Given the description of an element on the screen output the (x, y) to click on. 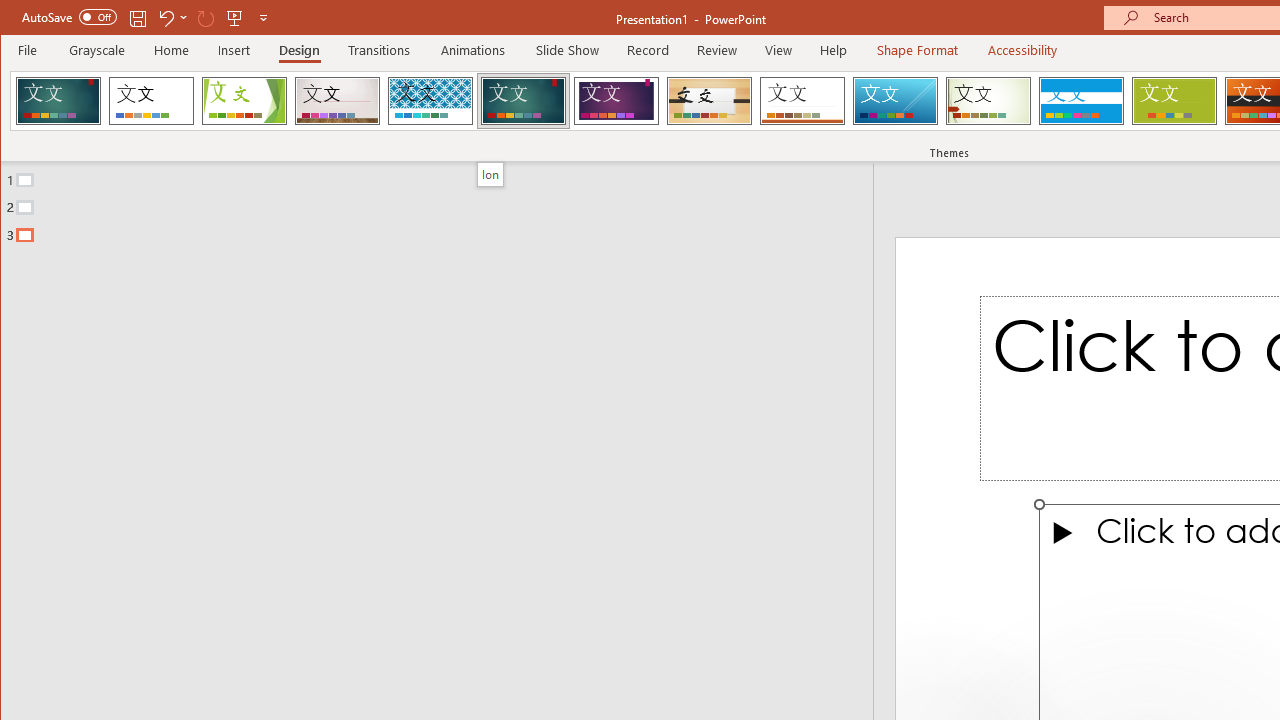
Office Theme (151, 100)
Integral (430, 100)
Ion (490, 174)
Ion (523, 100)
